Given the description of an element on the screen output the (x, y) to click on. 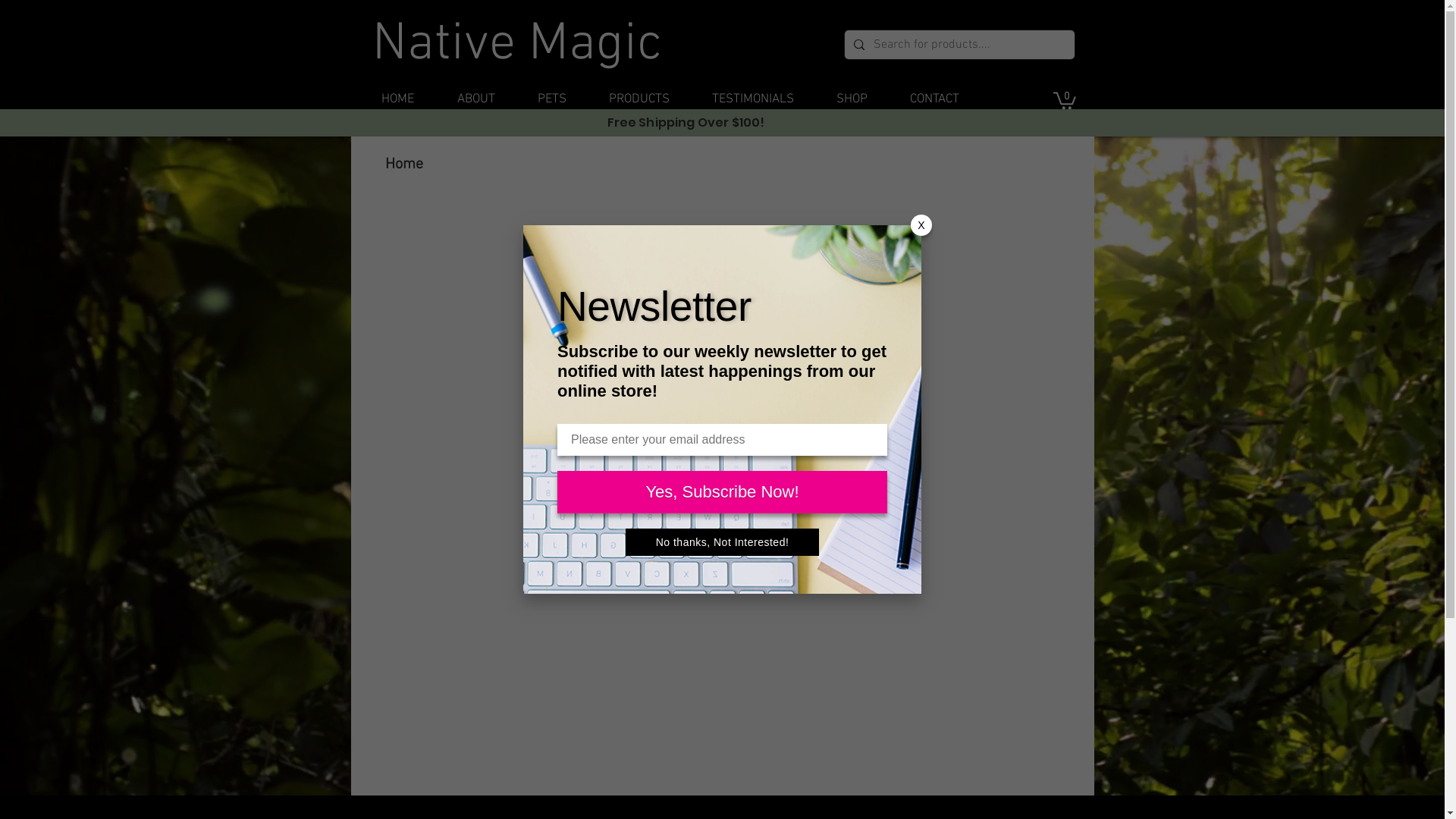
0 Element type: text (1063, 99)
X Element type: text (920, 224)
CONTACT Element type: text (934, 99)
PETS Element type: text (550, 99)
ABOUT Element type: text (475, 99)
Home Element type: text (404, 164)
No thanks, Not Interested! Element type: text (722, 541)
SHOP Element type: text (851, 99)
HOME Element type: text (397, 99)
Yes, Subscribe Now! Element type: text (722, 491)
TESTIMONIALS Element type: text (752, 99)
Continue Shopping Element type: text (721, 306)
